Given the description of an element on the screen output the (x, y) to click on. 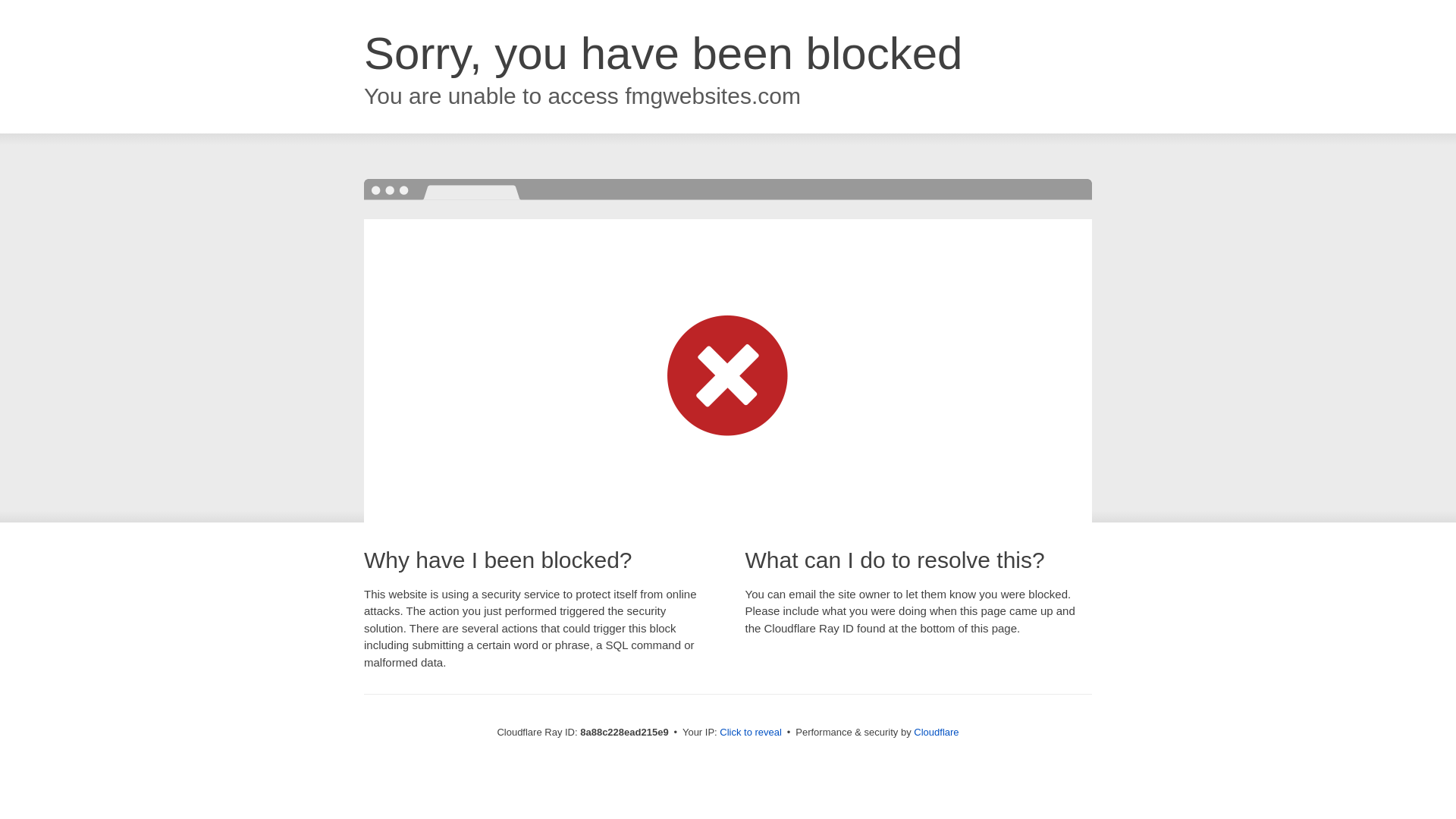
Cloudflare (936, 731)
Click to reveal (750, 732)
